Given the description of an element on the screen output the (x, y) to click on. 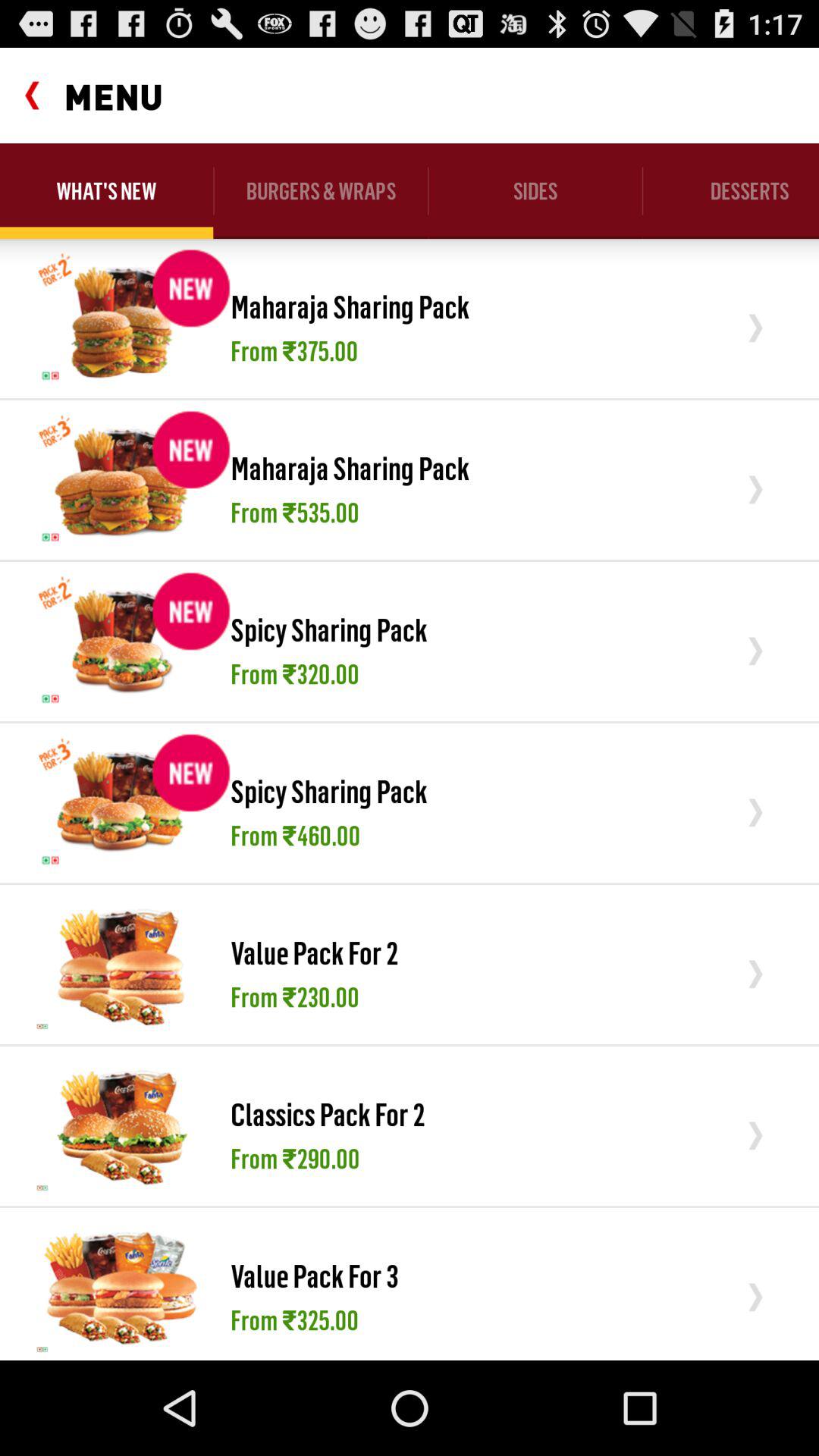
choose item next to value pack for item (121, 963)
